Given the description of an element on the screen output the (x, y) to click on. 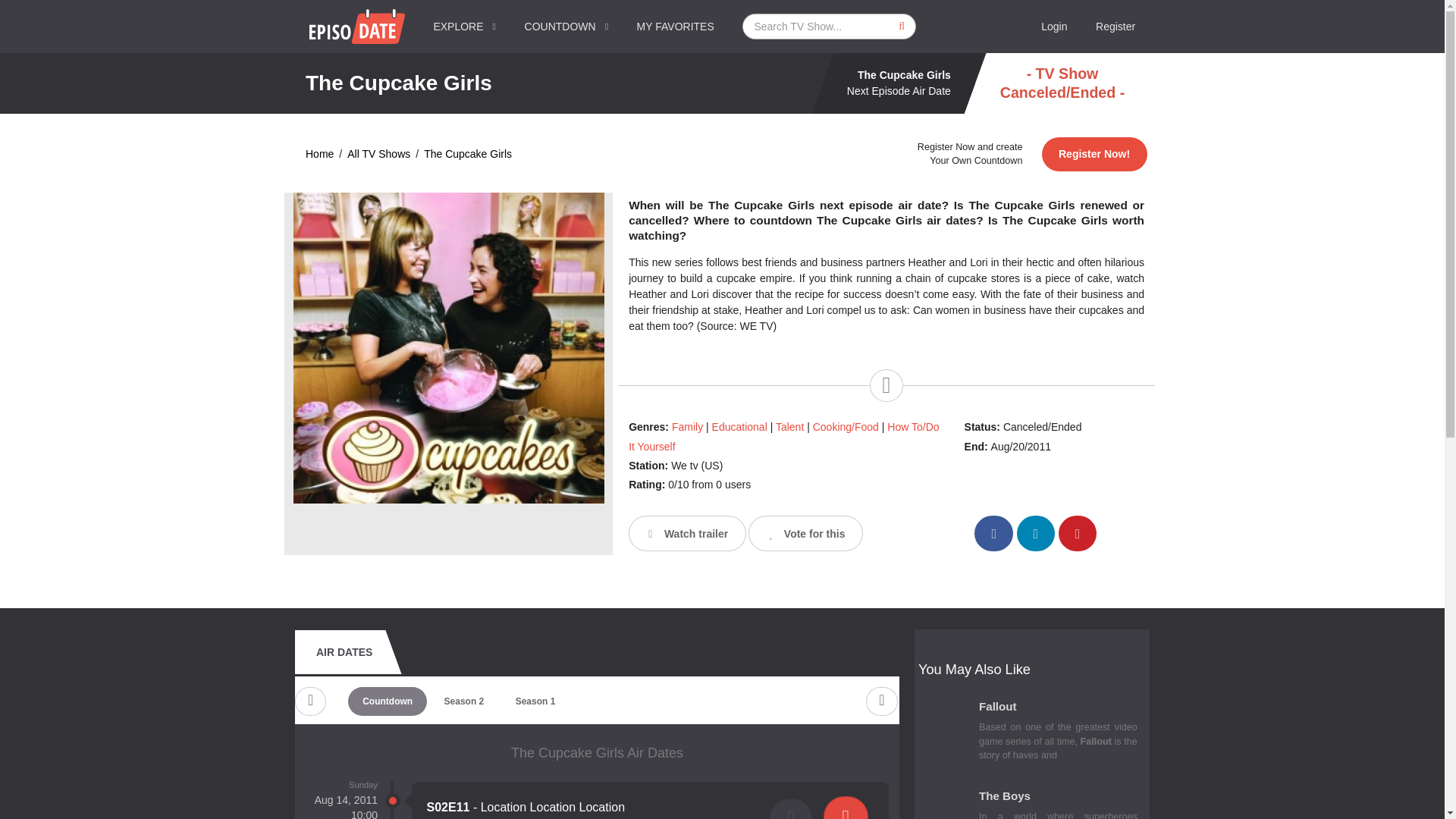
Family (687, 426)
Talent (789, 426)
Register (1115, 26)
Vote for this (805, 533)
The Cupcake Girls (467, 154)
MY FAVORITES (676, 26)
Educational (739, 426)
Watch trailer (686, 533)
Register Now! (1094, 154)
Home (319, 154)
All TV Shows (378, 154)
AIR DATES (344, 651)
Login (1053, 26)
